Given the description of an element on the screen output the (x, y) to click on. 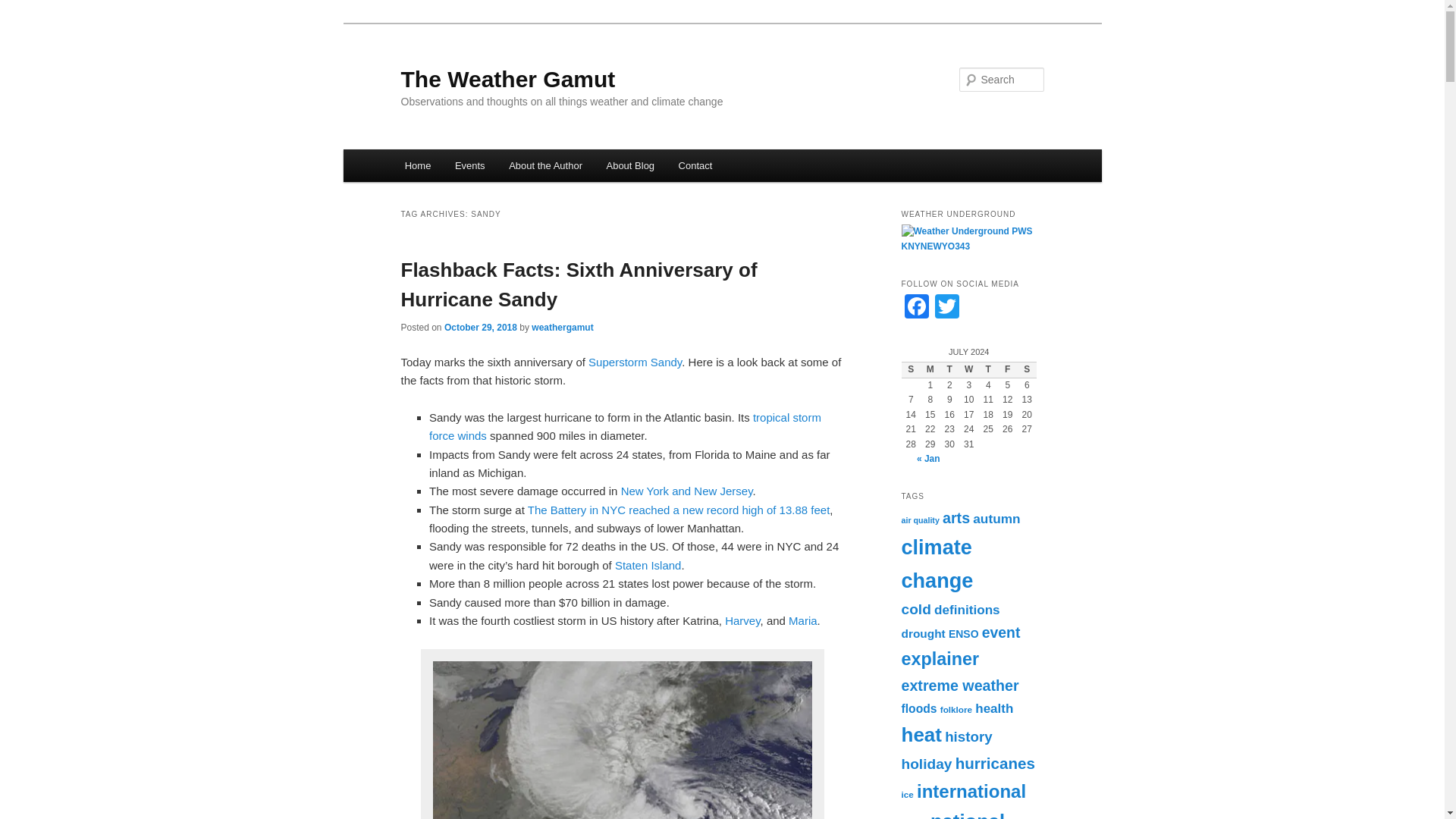
View all posts by weathergamut (561, 327)
Events (469, 165)
About the Author (545, 165)
weathergamut (561, 327)
Harvey (742, 620)
Flashback Facts: Sixth Anniversary of Hurricane Sandy (578, 284)
Staten Island (647, 564)
Home (417, 165)
Maria (802, 620)
The Battery in NYC reached a new record high of 13.88 feet (678, 509)
Contact (694, 165)
New York and New Jersey (686, 490)
About Blog (630, 165)
tropical storm force winds (625, 426)
